Given the description of an element on the screen output the (x, y) to click on. 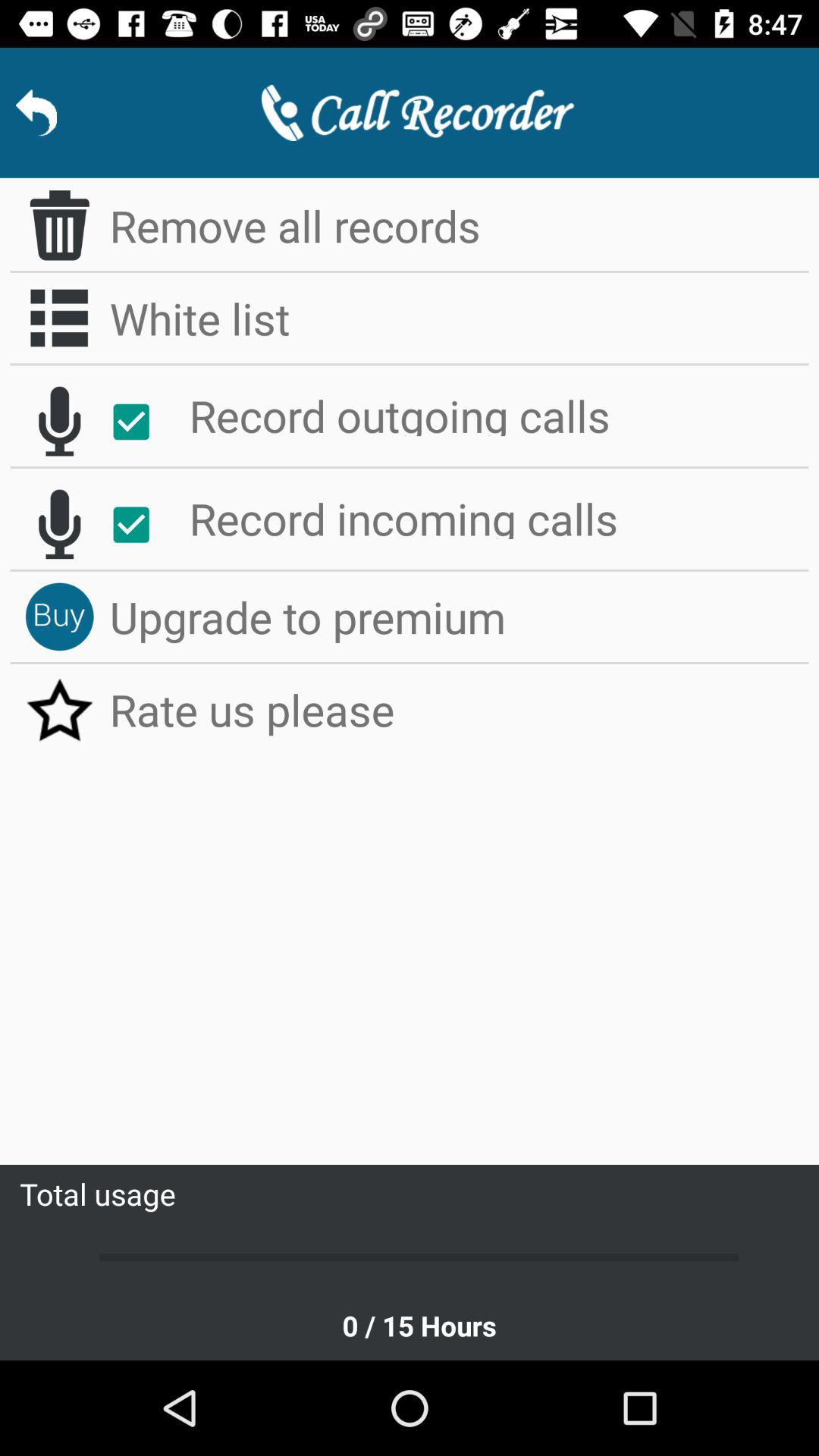
select the icon to the left of record outgoing calls item (139, 421)
